Given the description of an element on the screen output the (x, y) to click on. 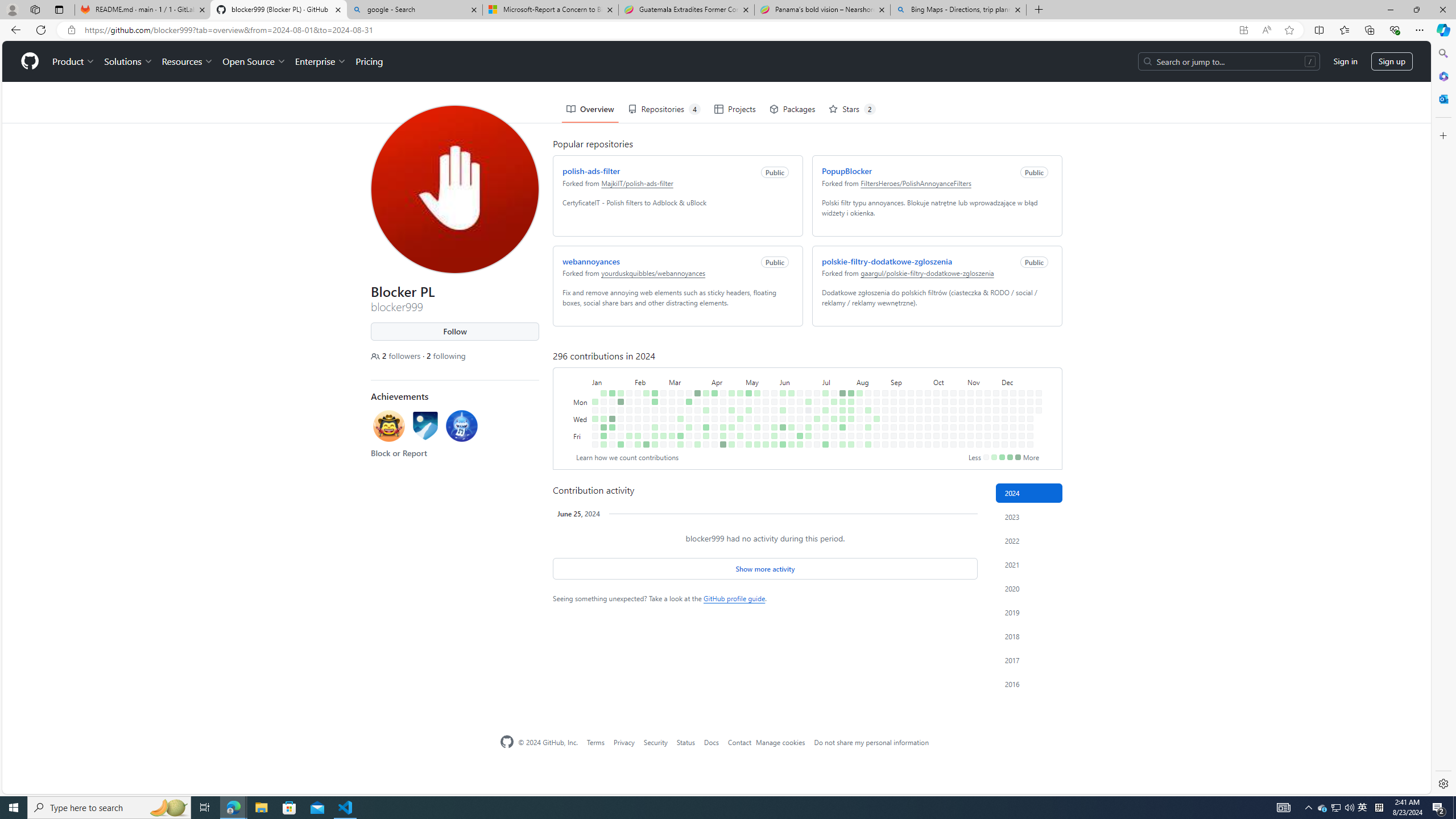
No contributions on March 3rd. (669, 351)
No contributions on November 24th. (993, 351)
No contributions on November 20th. (985, 377)
2 contributions on July 9th. (823, 369)
2 followers  (394, 314)
No contributions on May 21st. (763, 369)
3 contributions on April 19th. (720, 394)
No contributions on December 19th. (1019, 386)
No contributions on December 30th. (1036, 360)
No contributions on November 28th. (993, 386)
Achievement: Pull Shark (459, 386)
No contributions on March 5th. (669, 369)
No contributions on May 15th. (754, 377)
